Given the description of an element on the screen output the (x, y) to click on. 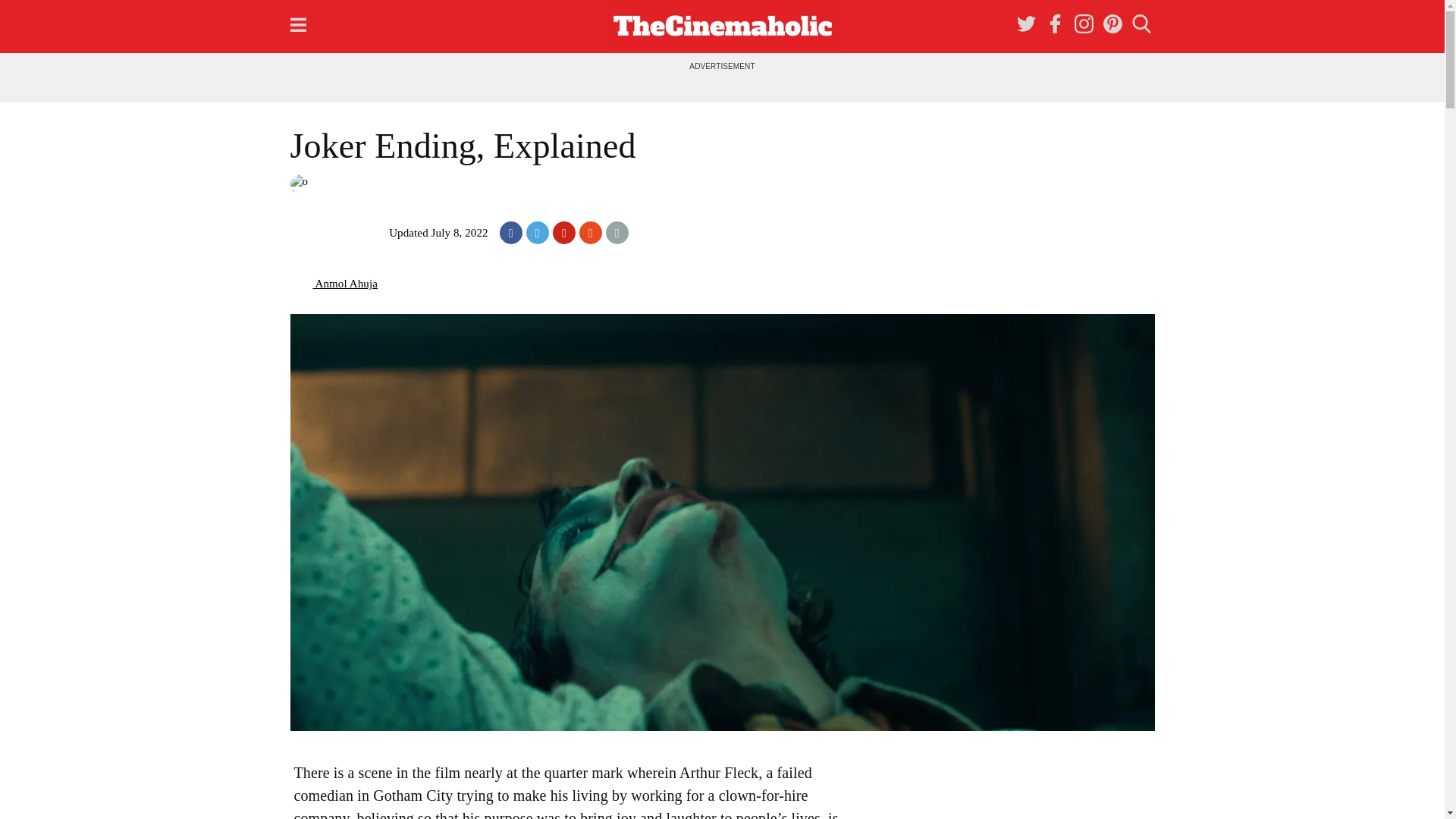
Anmol Ahuja (333, 283)
